Given the description of an element on the screen output the (x, y) to click on. 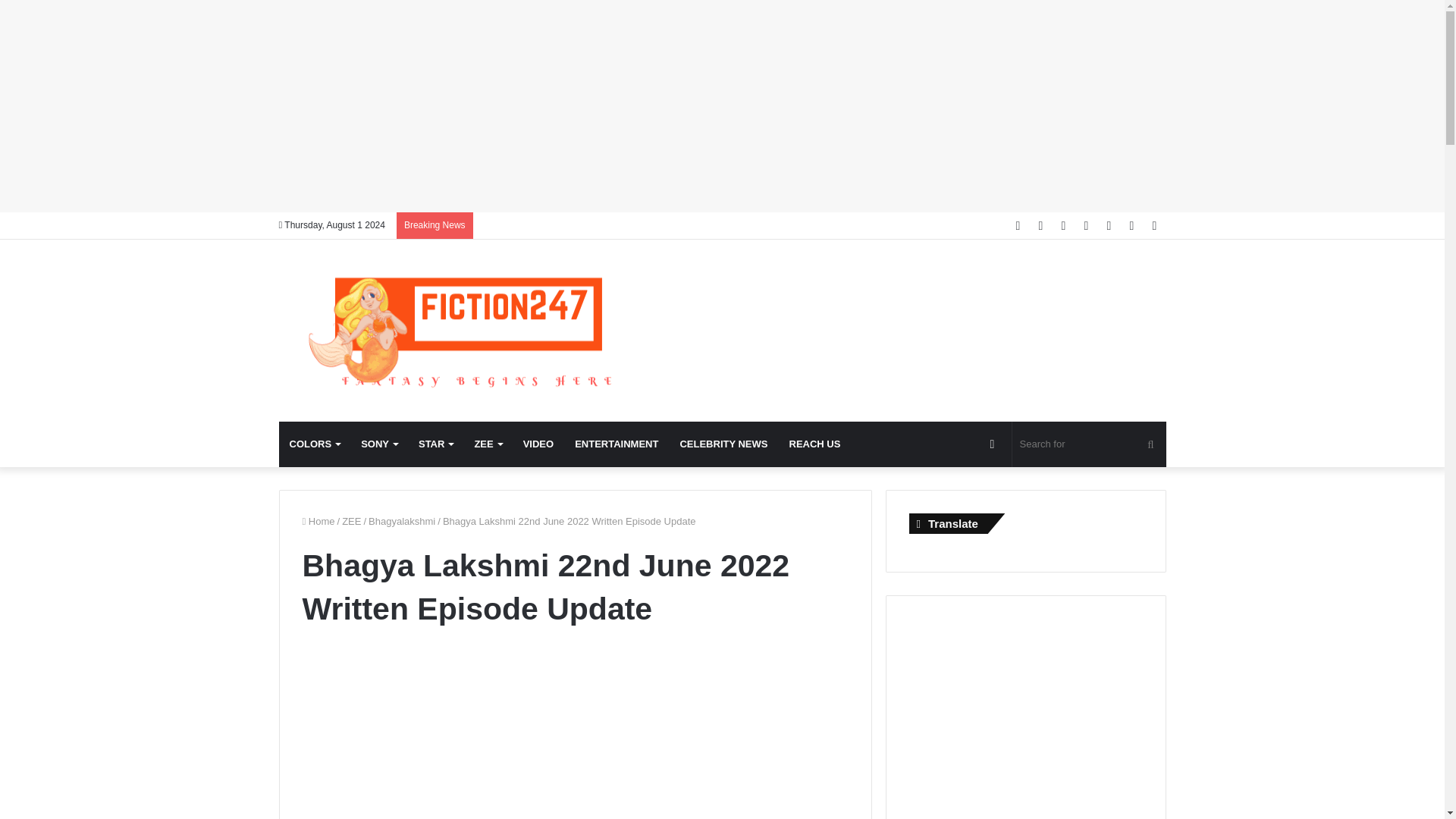
SONY (378, 443)
COLORS (314, 443)
Search for (1088, 443)
Fiction247 (468, 330)
STAR (435, 443)
